Given the description of an element on the screen output the (x, y) to click on. 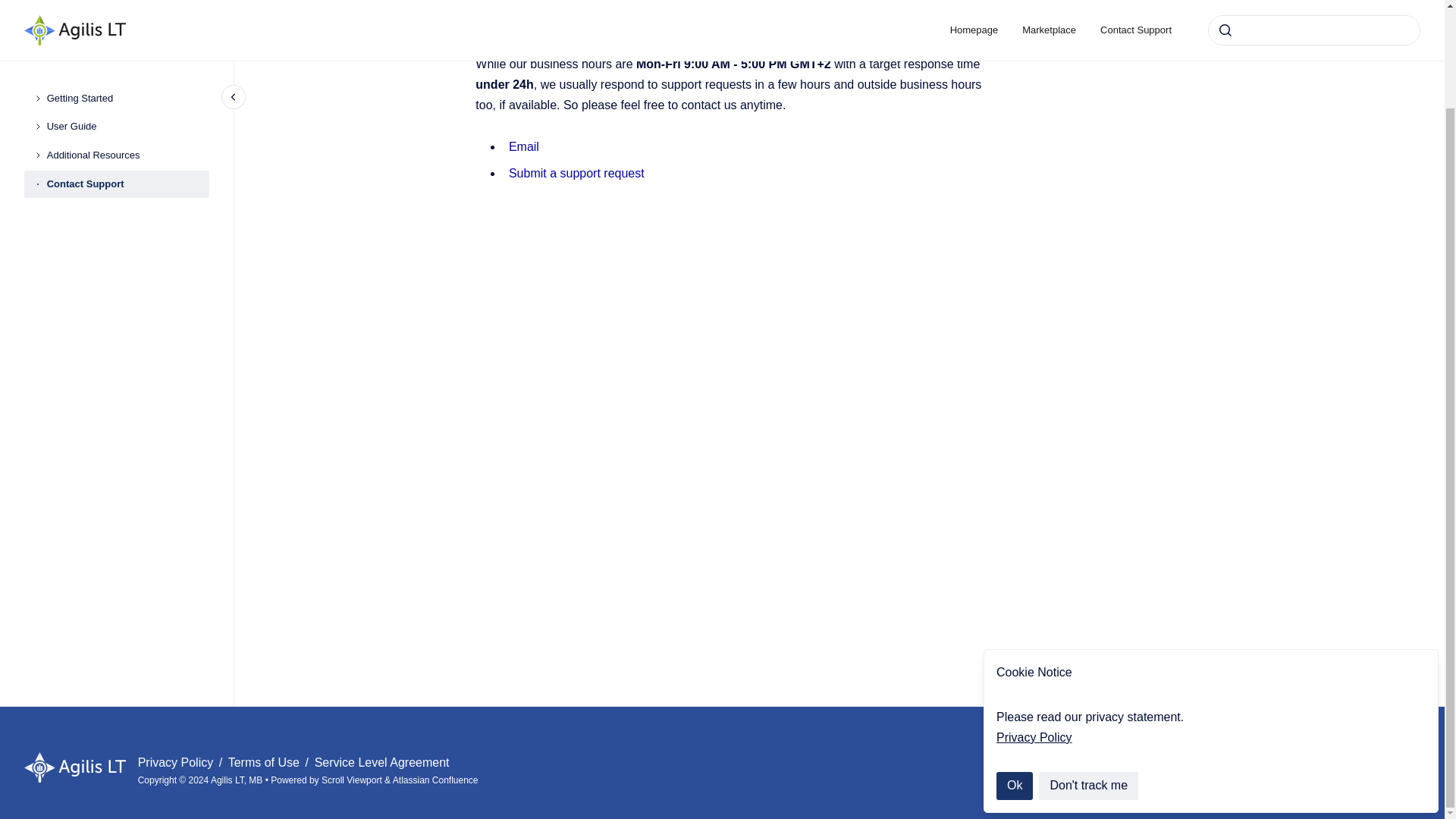
Atlassian Confluence (436, 779)
Don't track me (1088, 672)
Contact Support (127, 71)
Additional Resources (127, 42)
Submit a support request (576, 173)
User Guide (127, 13)
Scroll Viewport (352, 779)
Service Level Agreement (381, 762)
Terms of Use (265, 762)
